Given the description of an element on the screen output the (x, y) to click on. 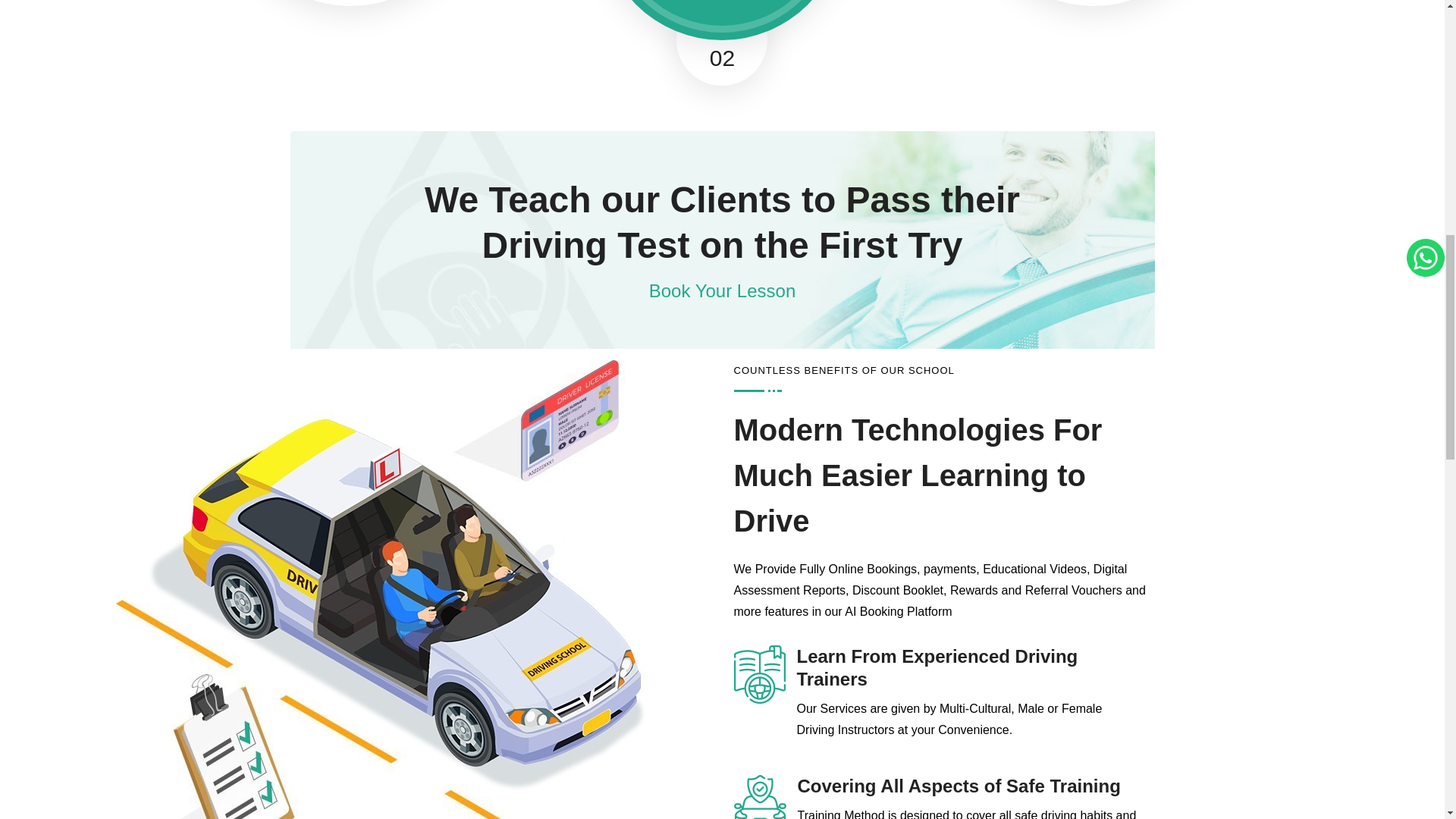
Book Your Lesson (722, 290)
